Given the description of an element on the screen output the (x, y) to click on. 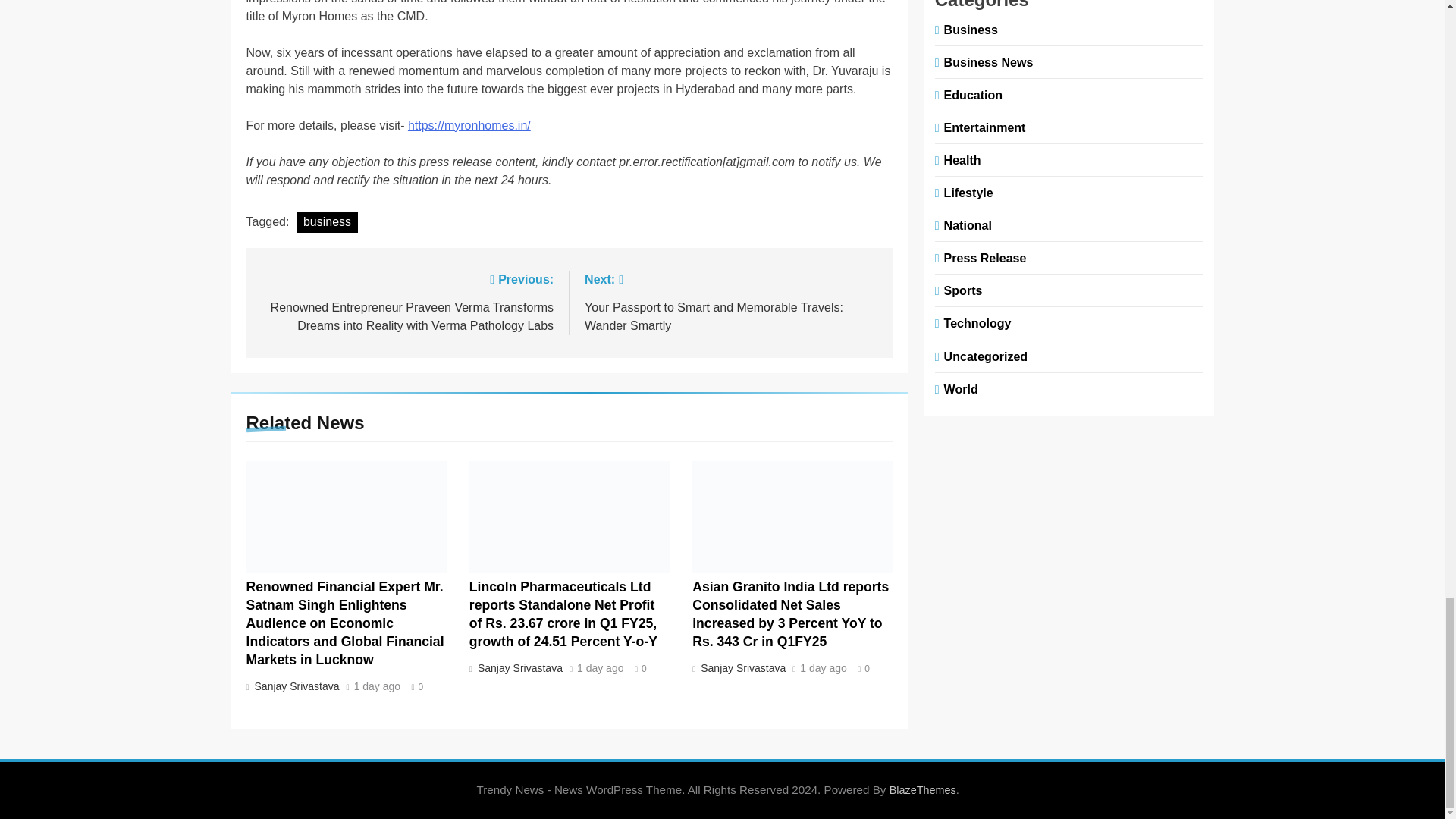
1 day ago (823, 668)
Sanjay Srivastava (294, 686)
Sanjay Srivastava (517, 667)
Sanjay Srivastava (741, 667)
1 day ago (600, 668)
